Given the description of an element on the screen output the (x, y) to click on. 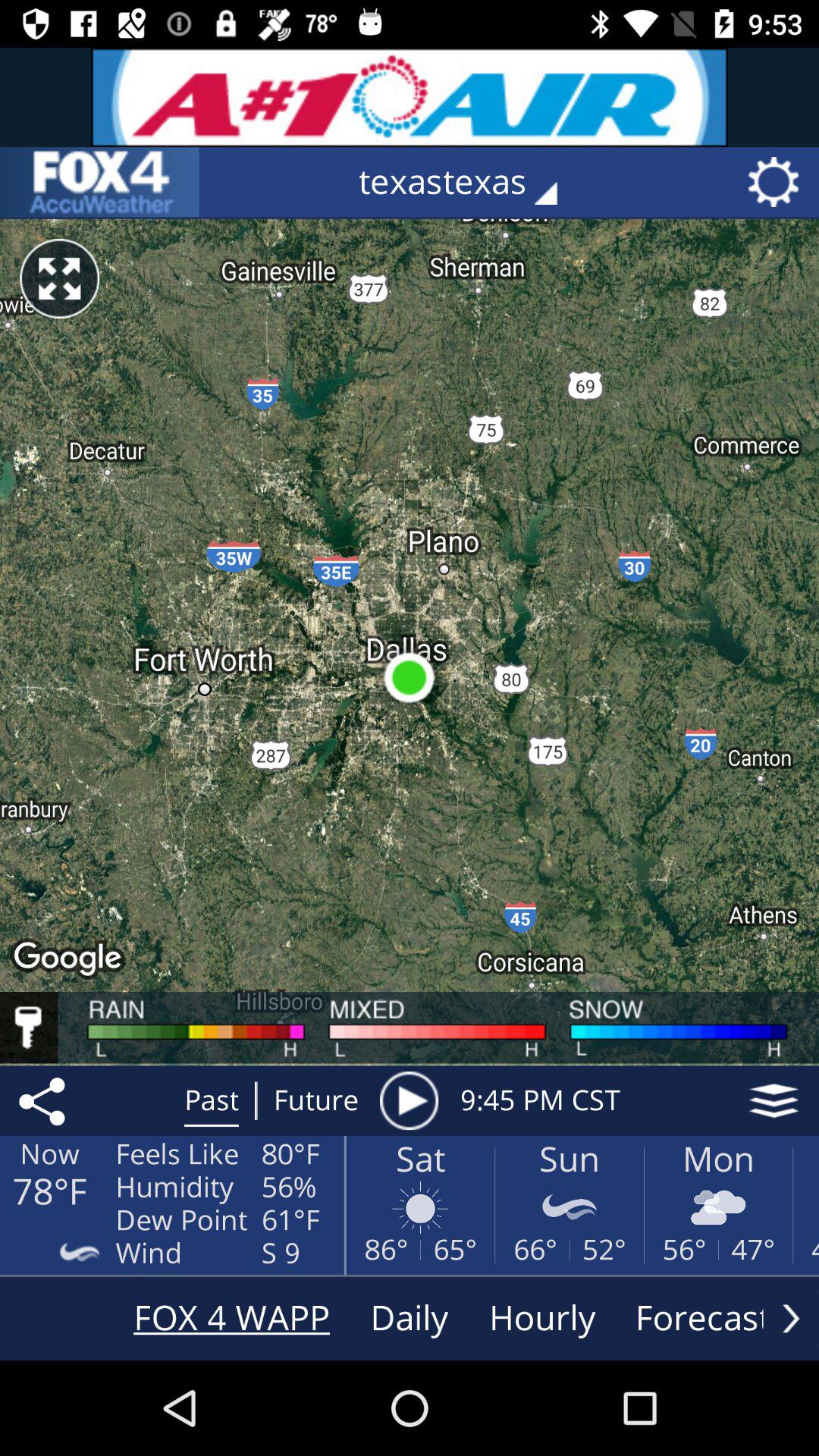
launch the icon next to future (409, 1100)
